Given the description of an element on the screen output the (x, y) to click on. 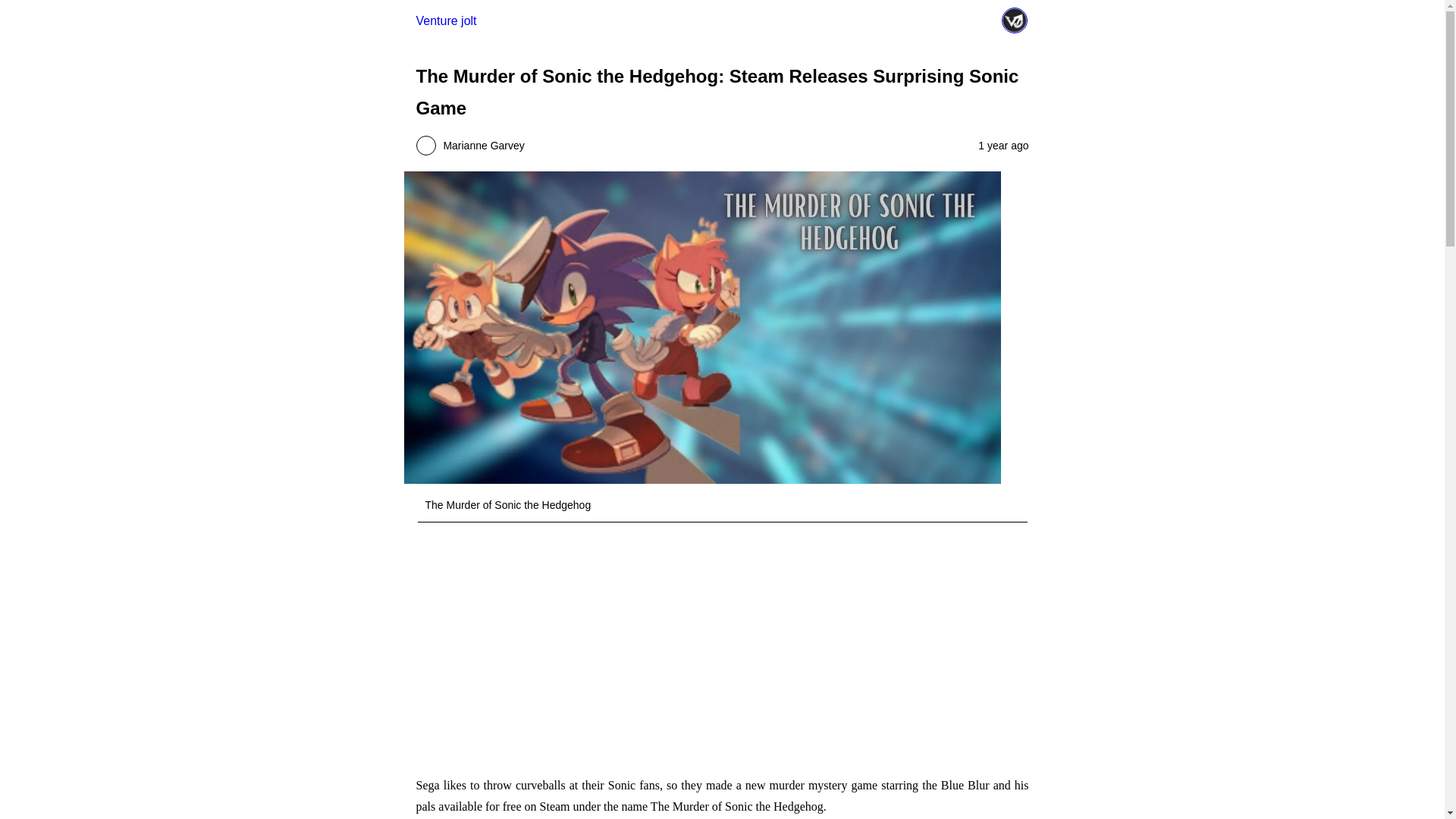
Venture jolt (445, 20)
